Given the description of an element on the screen output the (x, y) to click on. 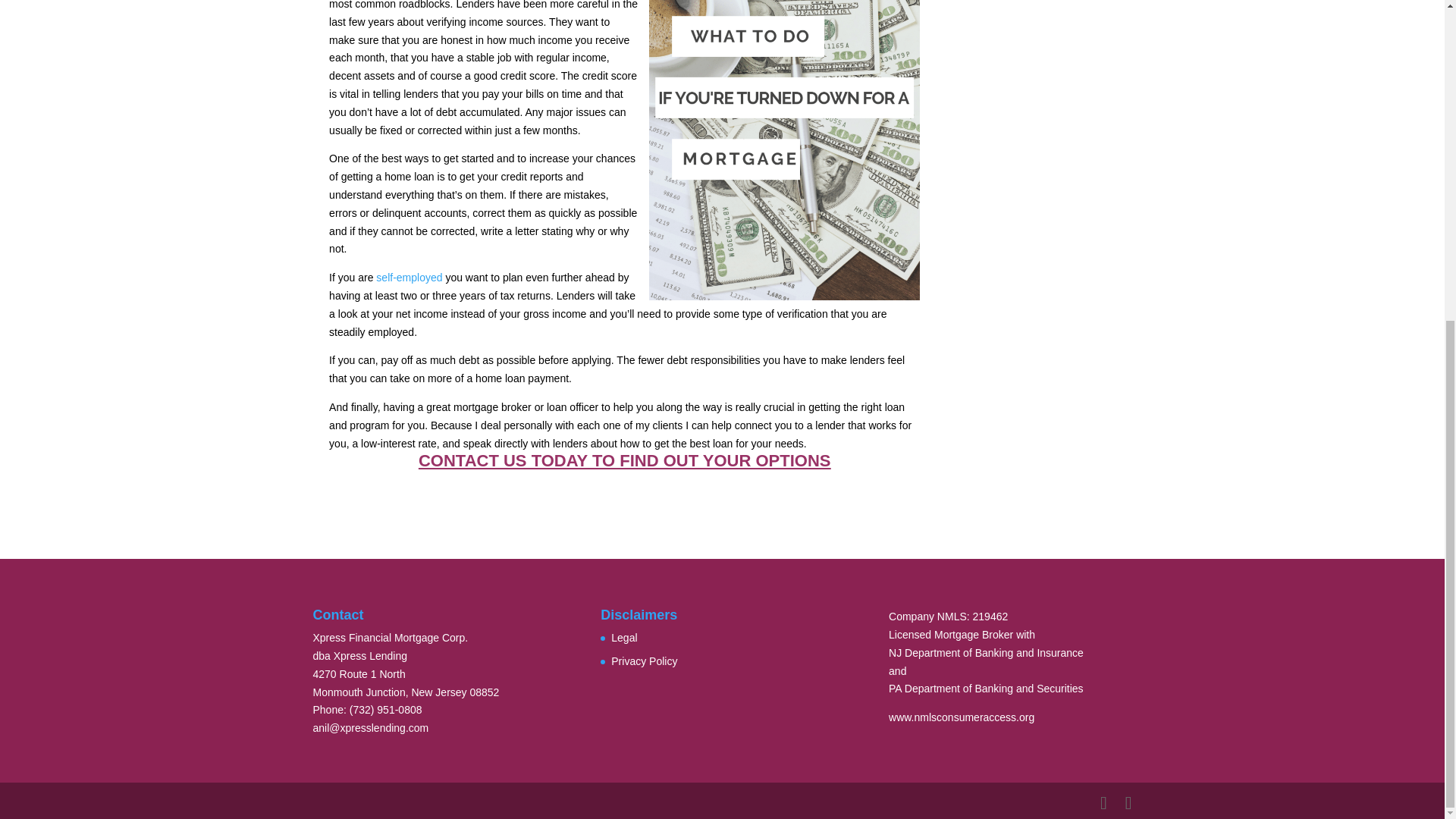
Privacy Policy (644, 661)
CONTACT US TODAY TO FIND OUT YOUR OPTIONS (625, 460)
www.nmlsconsumeraccess.org (960, 717)
self-employed (408, 277)
Legal (624, 637)
